Given the description of an element on the screen output the (x, y) to click on. 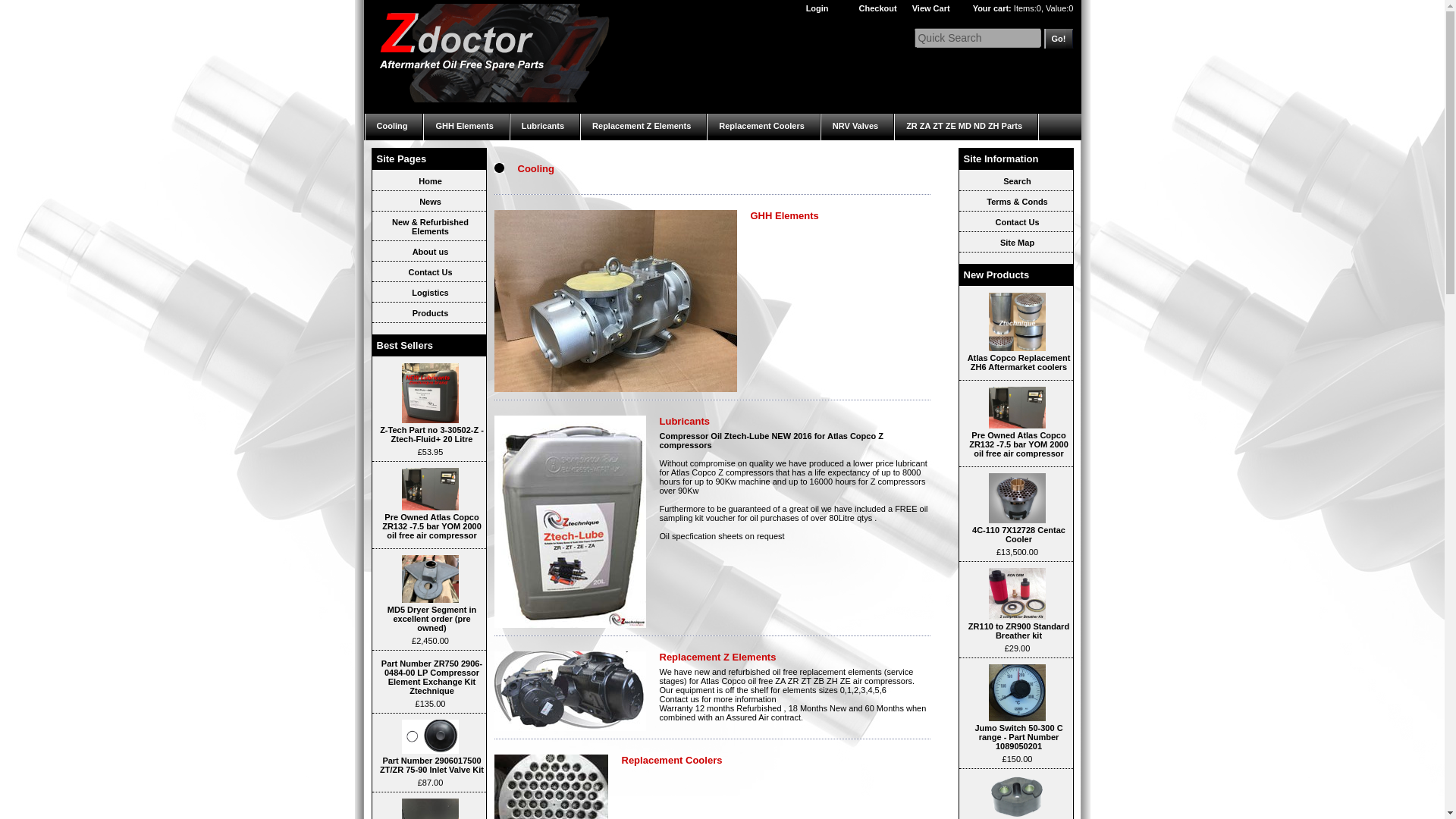
380 x 300 MM Compressor protection screens Zdoctor  (429, 808)
View Cart (931, 8)
Lubricants (545, 126)
Replacement Z Elements (643, 126)
Go! (1054, 38)
Login (817, 8)
Cooling (394, 126)
Quick Search (977, 37)
Checkout (877, 8)
ZR ZA ZT ZE MD ND ZH Parts (965, 126)
GHH Elements (465, 126)
4C-110 7X12728  Centac Cooler  (1016, 498)
Go! (1054, 38)
